Given the description of an element on the screen output the (x, y) to click on. 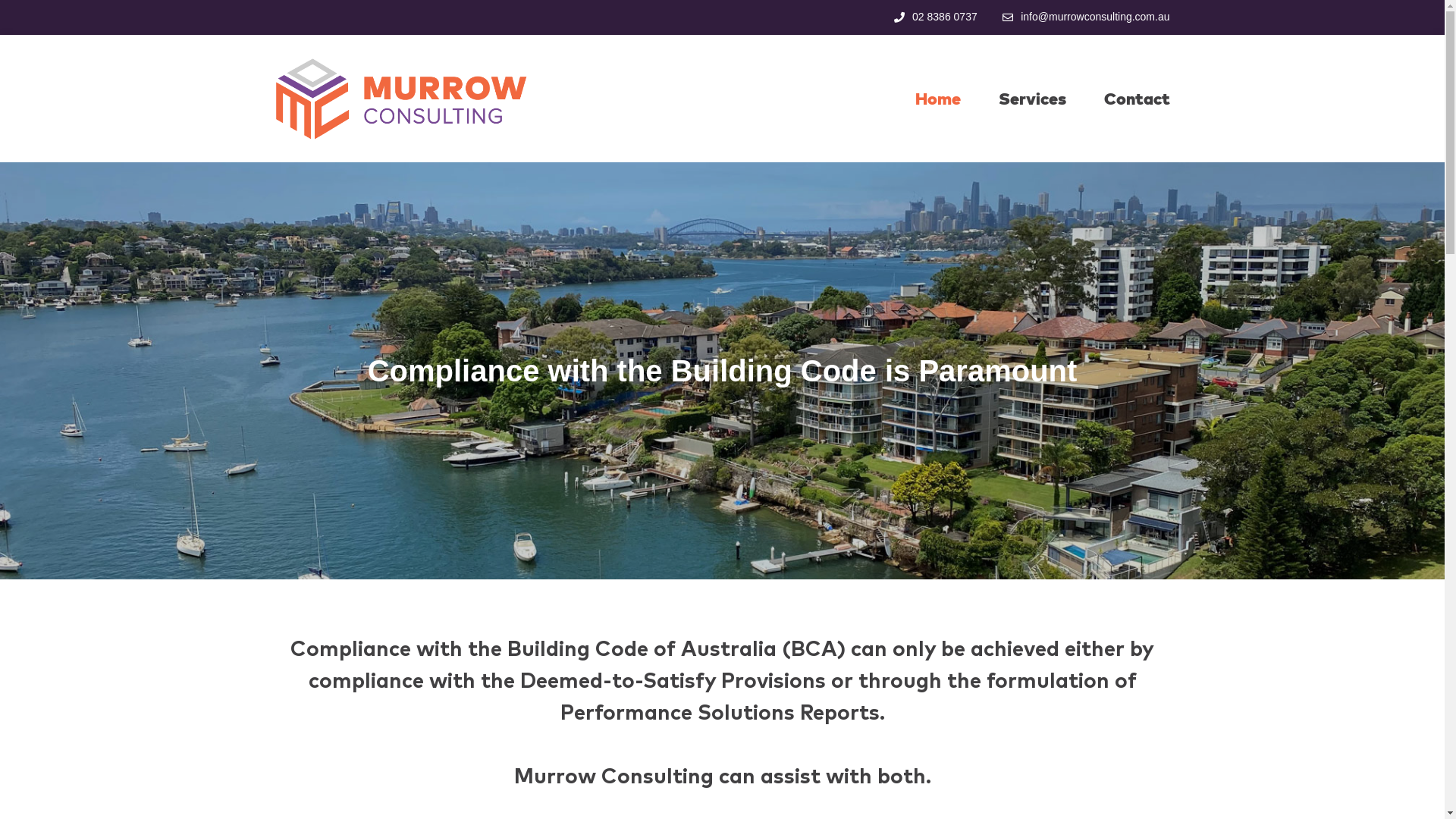
Services Element type: text (1031, 98)
info@murrowconsulting.com.au Element type: text (1085, 17)
Home Element type: text (937, 98)
Contact Element type: text (1137, 98)
02 8386 0737 Element type: text (934, 17)
